Given the description of an element on the screen output the (x, y) to click on. 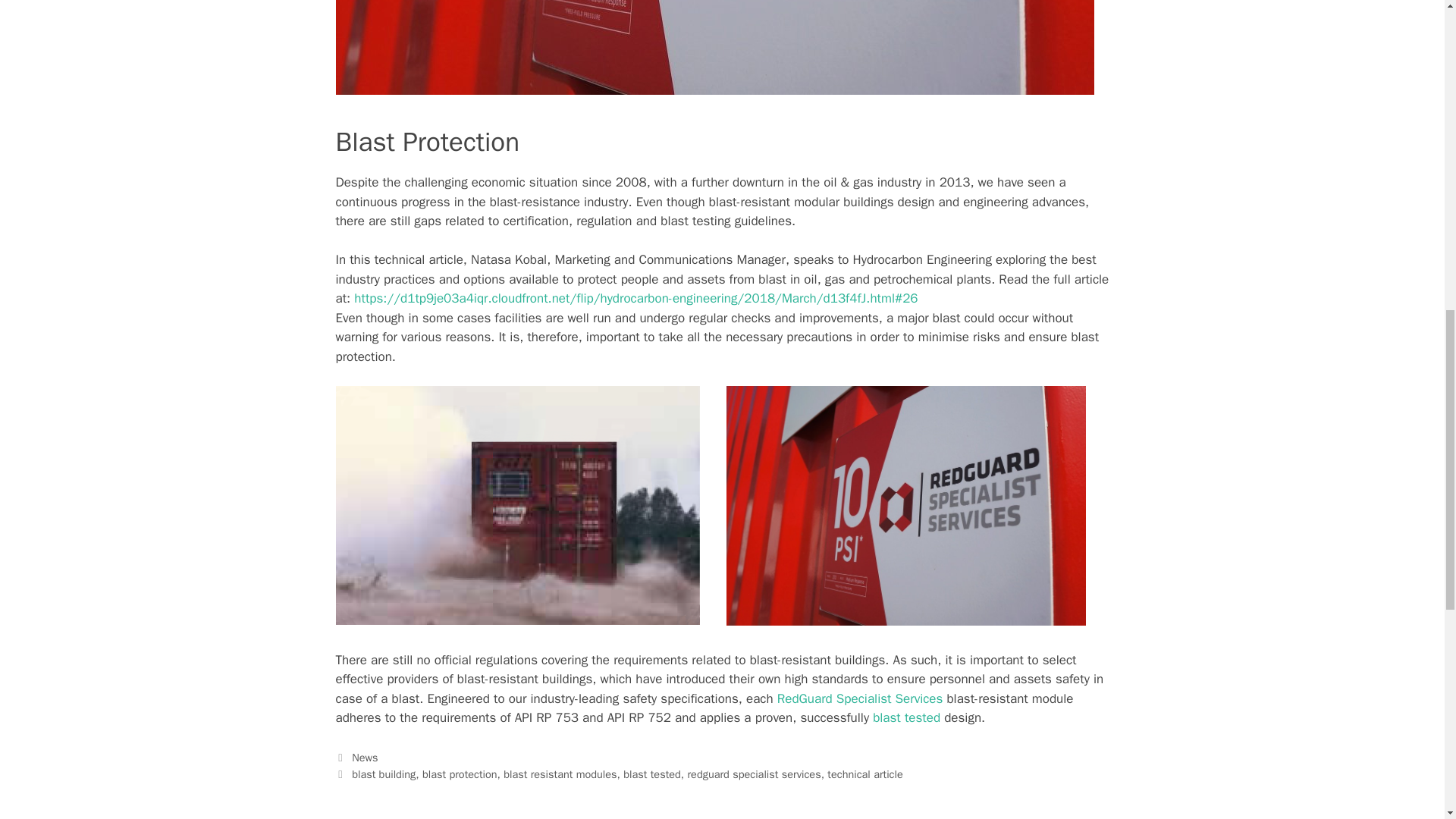
Scroll back to top (1406, 720)
